Given the description of an element on the screen output the (x, y) to click on. 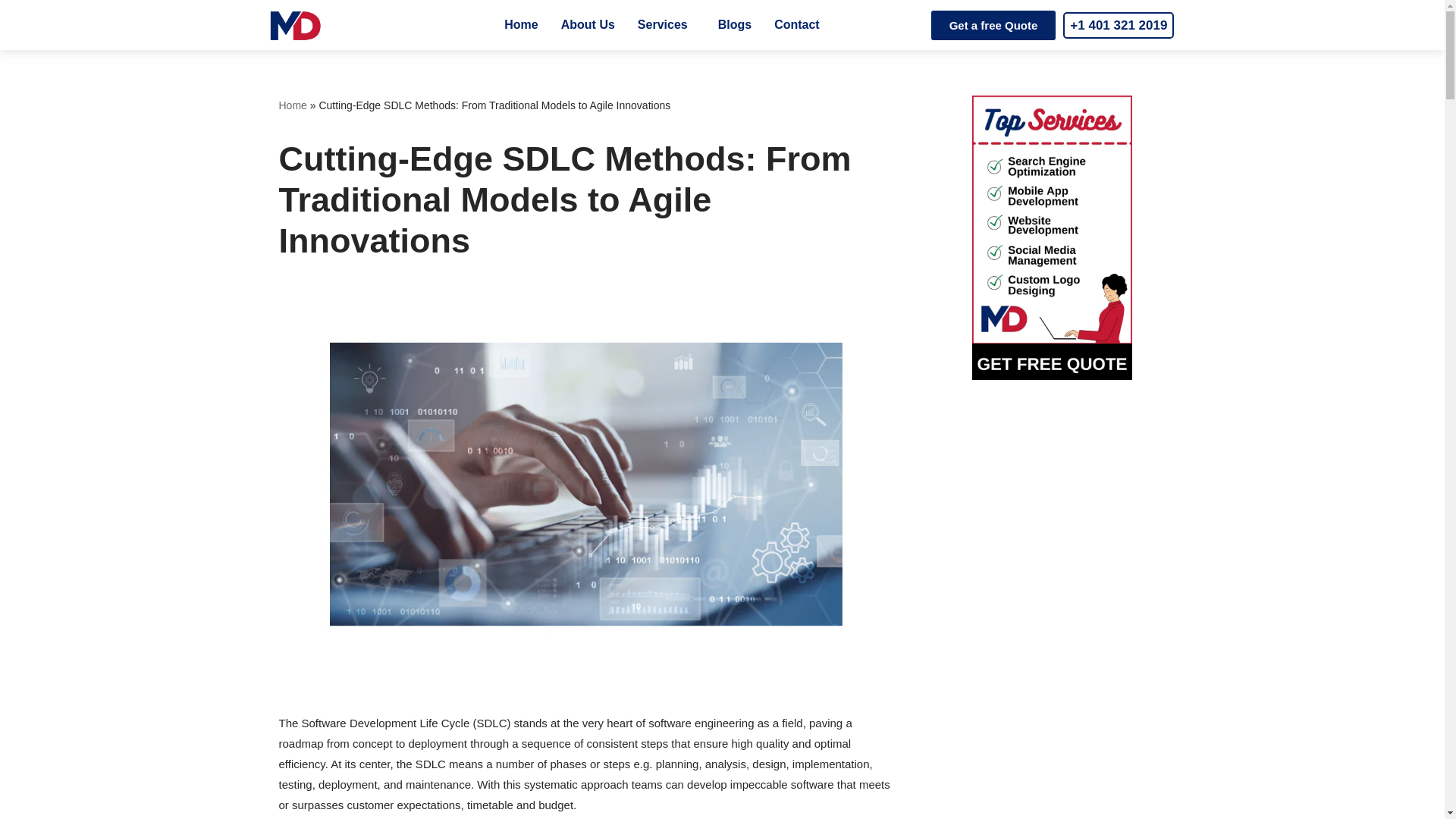
Home (520, 24)
Services (666, 24)
About Us (588, 24)
Skip to content (11, 31)
